Given the description of an element on the screen output the (x, y) to click on. 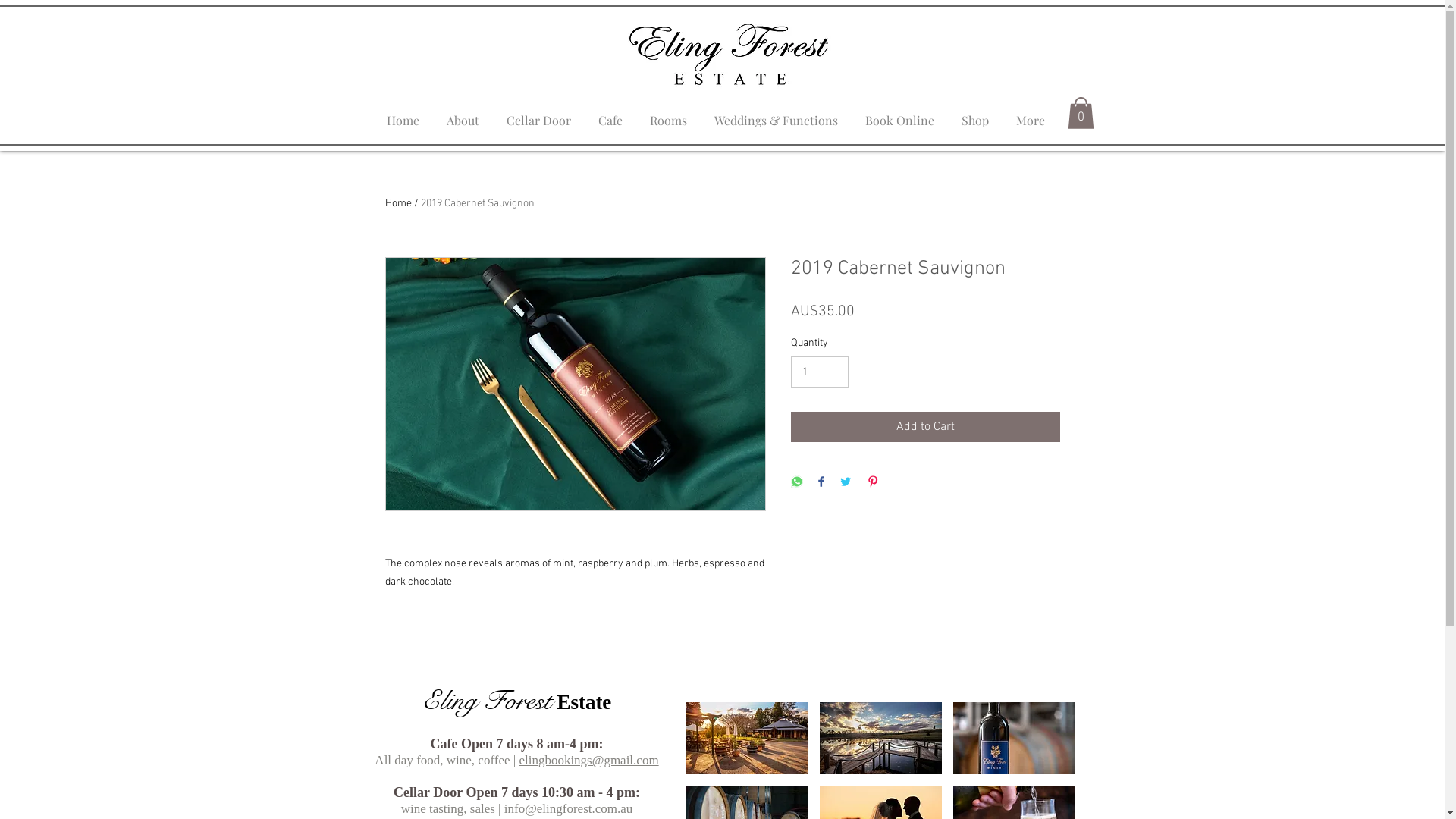
About Element type: text (462, 113)
Home Element type: text (398, 203)
Home Element type: text (403, 113)
ELING ESTATE.jpg Element type: hover (728, 54)
Book Online Element type: text (898, 113)
Shop Element type: text (974, 113)
info@elingforest.com.au Element type: text (568, 808)
0 Element type: text (1080, 112)
Cellar Door Element type: text (538, 113)
2019 Cabernet Sauvignon Element type: text (476, 203)
Weddings & Functions Element type: text (775, 113)
Rooms Element type: text (667, 113)
elingbookings@gmail.com Element type: text (588, 760)
Add to Cart Element type: text (924, 426)
Cafe Element type: text (609, 113)
